Given the description of an element on the screen output the (x, y) to click on. 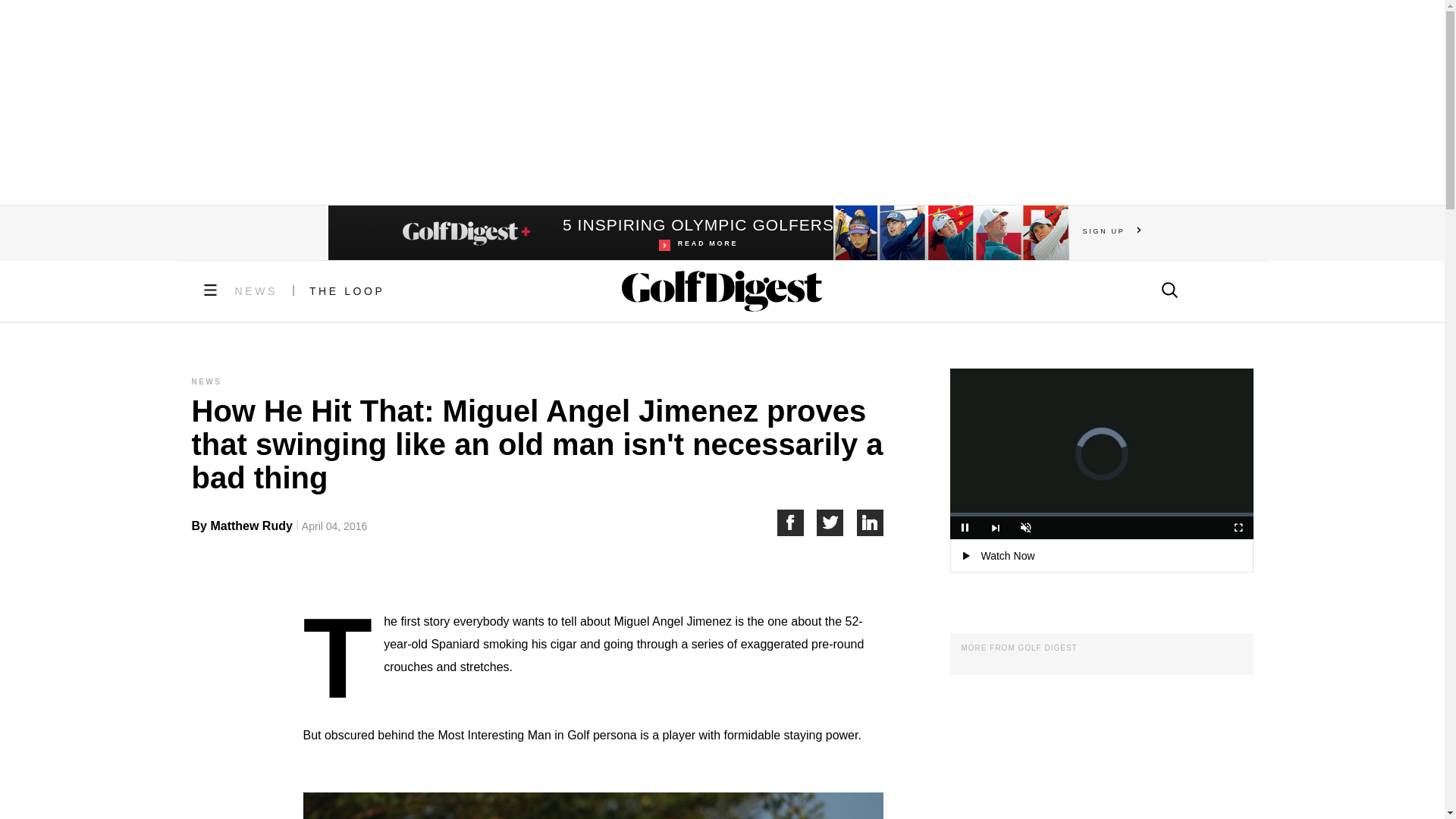
THE LOOP (346, 291)
Share on LinkedIn (870, 522)
Share on Twitter (836, 522)
Fullscreen (1237, 527)
Pause (697, 232)
Share on Facebook (964, 527)
Next playlist item (796, 522)
Unmute (994, 527)
SIGN UP (1025, 527)
NEWS (1112, 230)
